Given the description of an element on the screen output the (x, y) to click on. 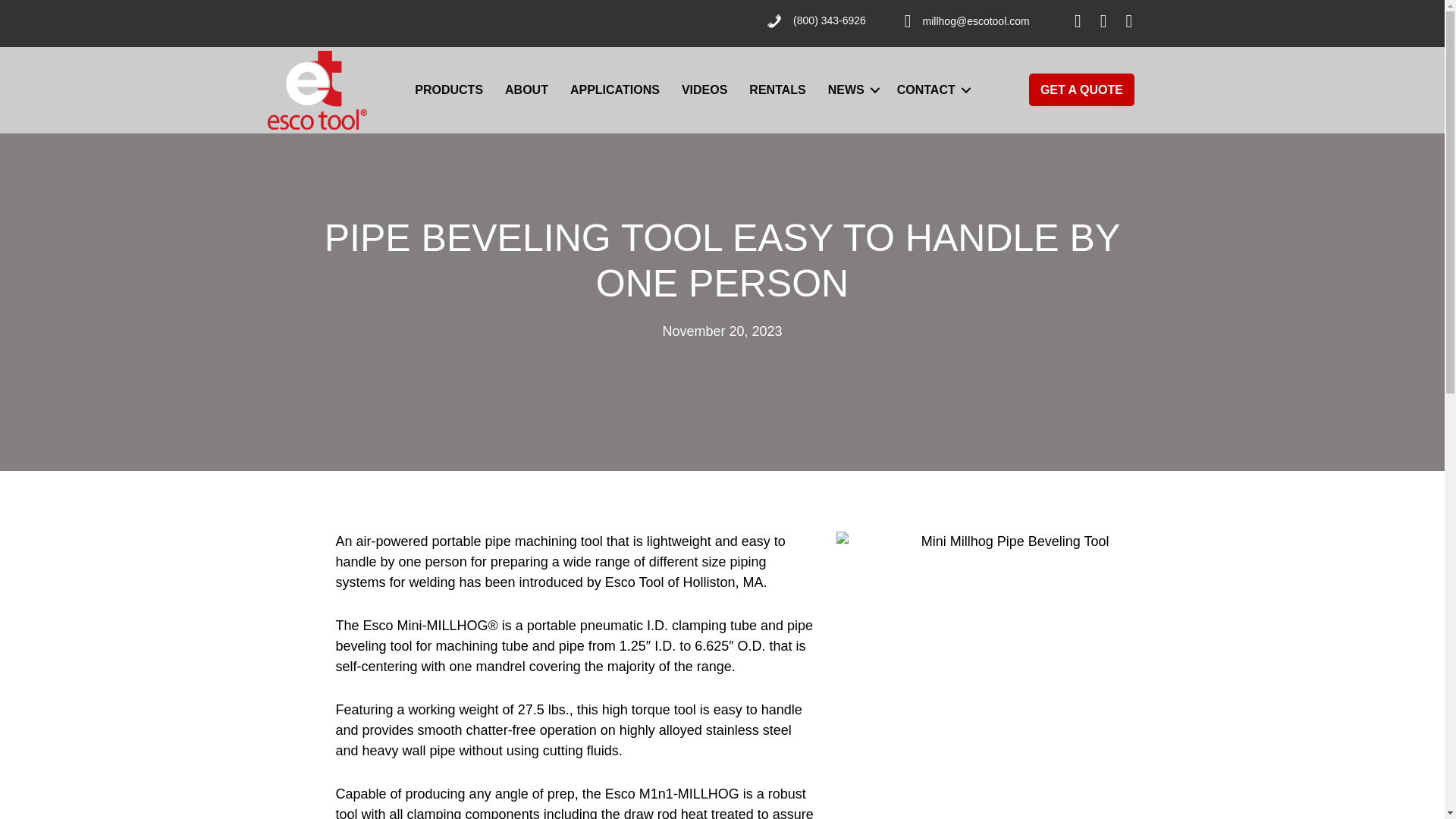
APPLICATIONS (614, 90)
etSVDC.001 (316, 89)
GET A QUOTE (1081, 89)
RENTALS (776, 90)
PRODUCTS (448, 90)
CONTACT (931, 90)
NEWS (850, 90)
ABOUT (527, 90)
VIDEOS (704, 90)
